Given the description of an element on the screen output the (x, y) to click on. 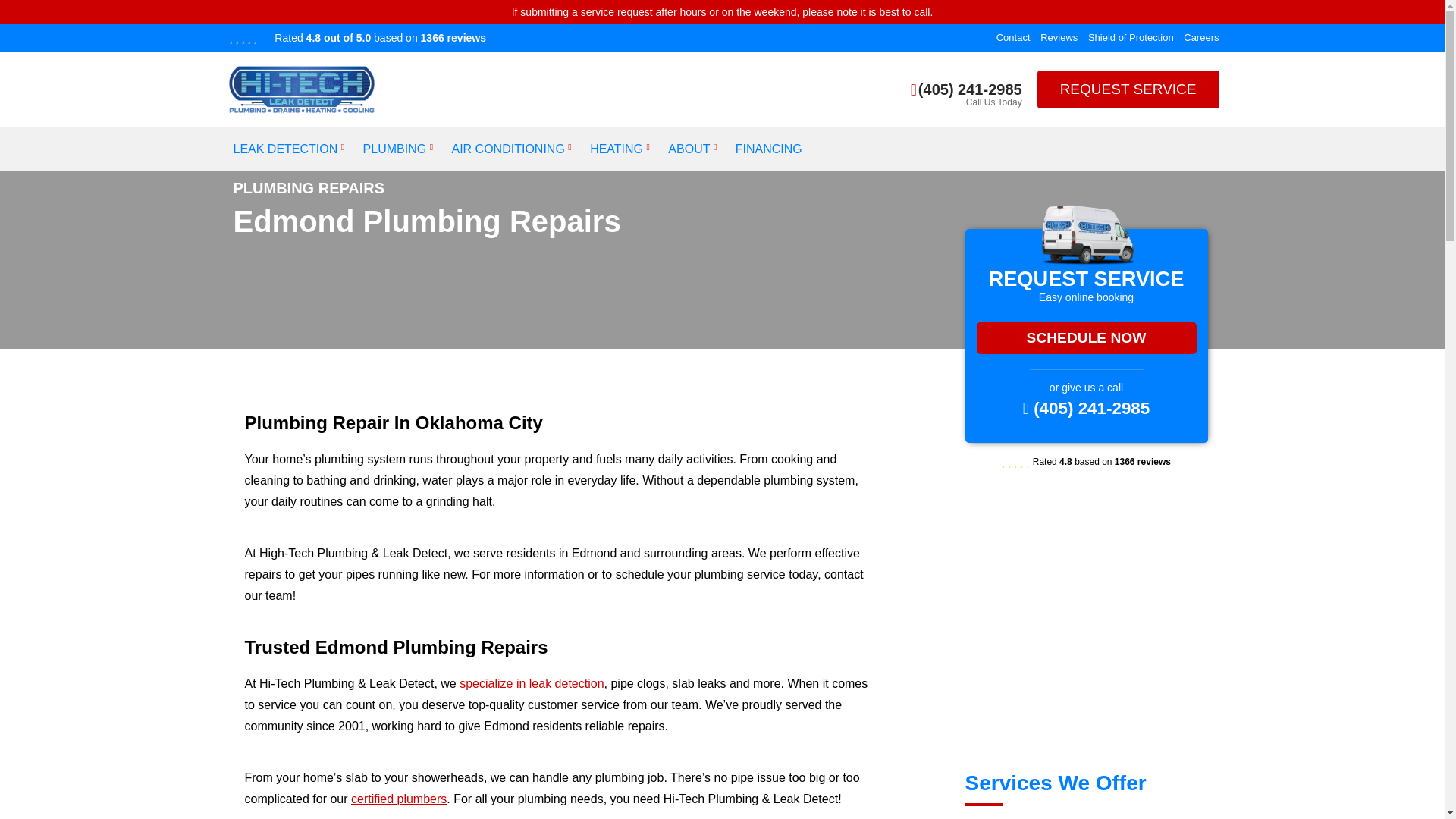
Reviews (1059, 37)
REQUEST SERVICE (1128, 89)
Careers (1200, 37)
LEAK DETECTION (284, 149)
HEATING (616, 149)
ABOUT (689, 149)
Contact (1012, 37)
AIR CONDITIONING (507, 149)
PLUMBING (394, 149)
Shield of Protection (1130, 37)
